Given the description of an element on the screen output the (x, y) to click on. 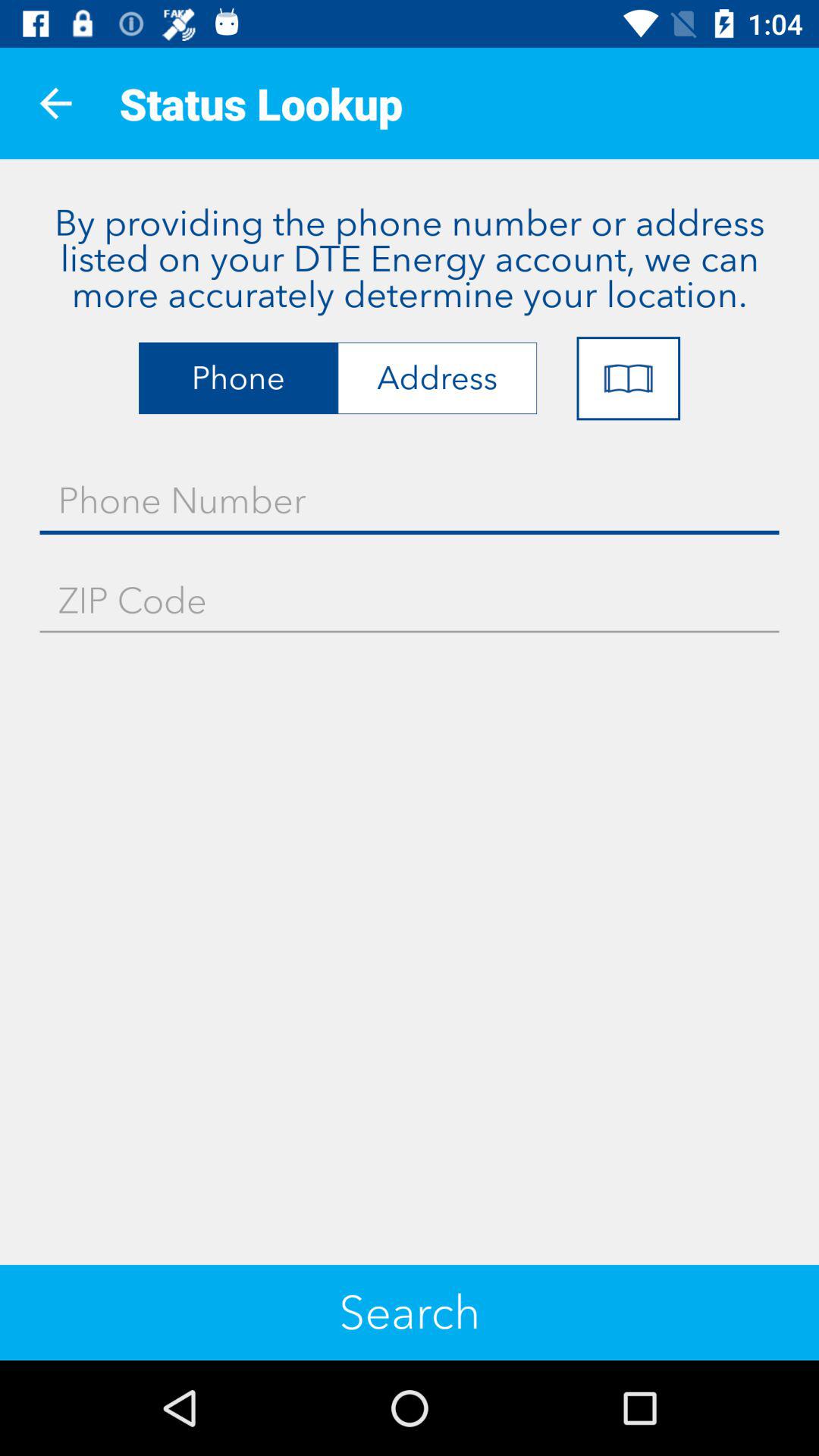
press the icon at the top right corner (628, 378)
